Given the description of an element on the screen output the (x, y) to click on. 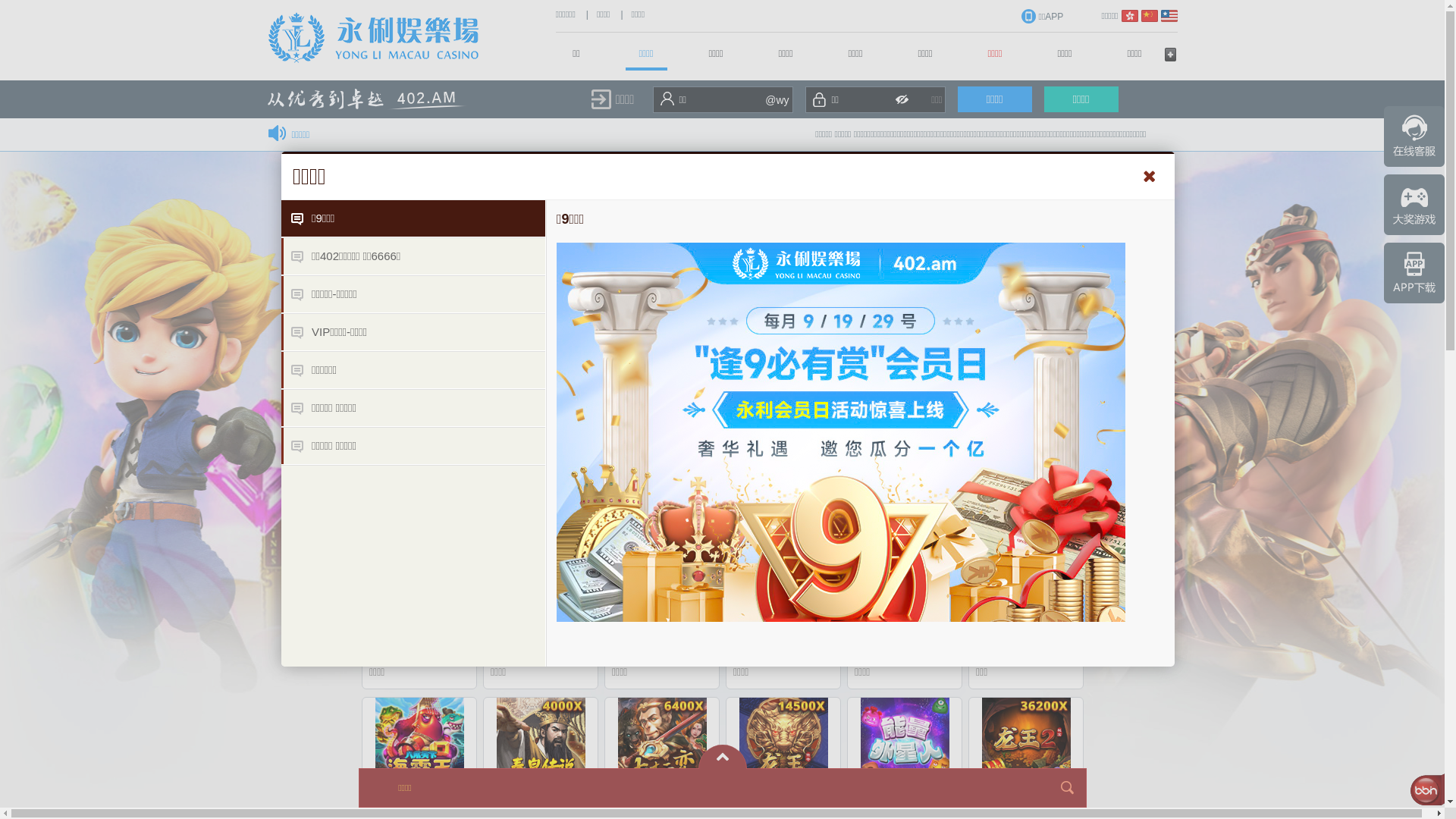
English Element type: hover (1168, 15)
